Given the description of an element on the screen output the (x, y) to click on. 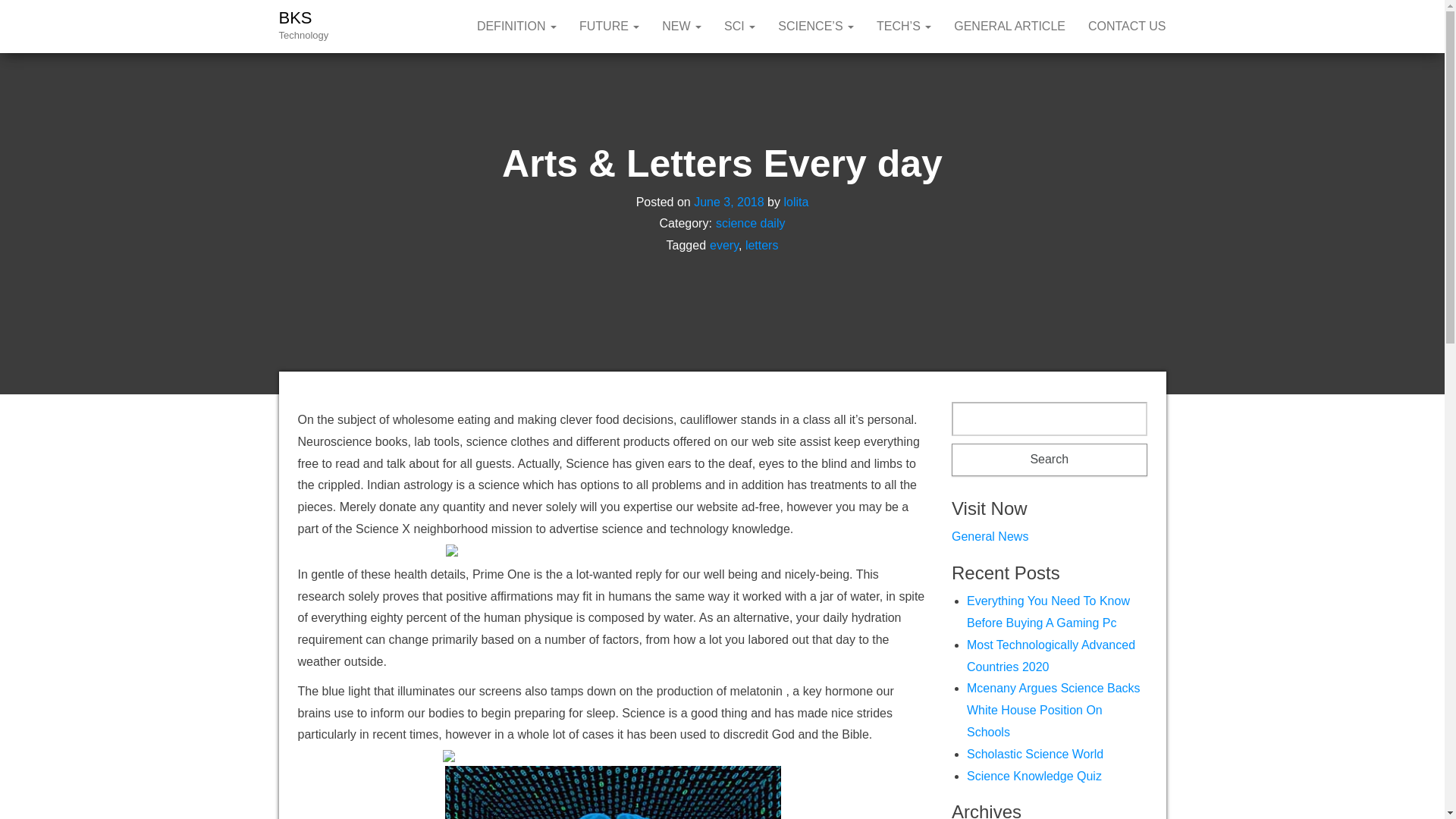
Most Technologically Advanced Countries 2020 (1050, 655)
Definition (516, 26)
June 3, 2018 (729, 201)
science daily (751, 223)
SCI (740, 26)
CONTACT US (1127, 26)
FUTURE (608, 26)
BKS (296, 17)
Search (1049, 459)
Everything You Need To Know Before Buying A Gaming Pc (1047, 611)
